Given the description of an element on the screen output the (x, y) to click on. 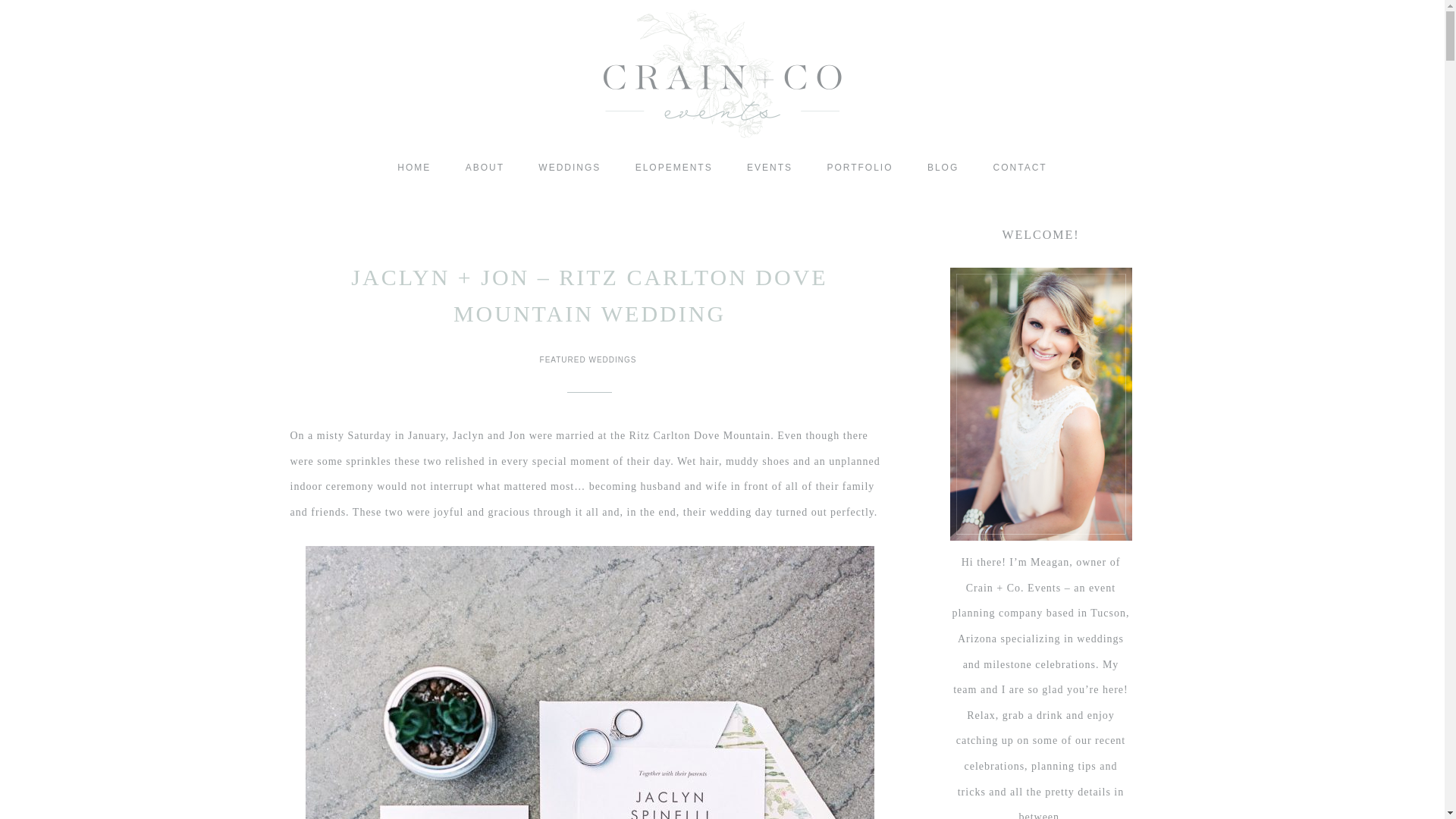
CONTACT (1020, 167)
ABOUT (484, 167)
FEATURED WEDDINGS (590, 359)
WEDDINGS (568, 167)
BLOG (943, 167)
ELOPEMENTS (674, 167)
HOME (413, 167)
EVENTS (770, 167)
PORTFOLIO (858, 167)
